Given the description of an element on the screen output the (x, y) to click on. 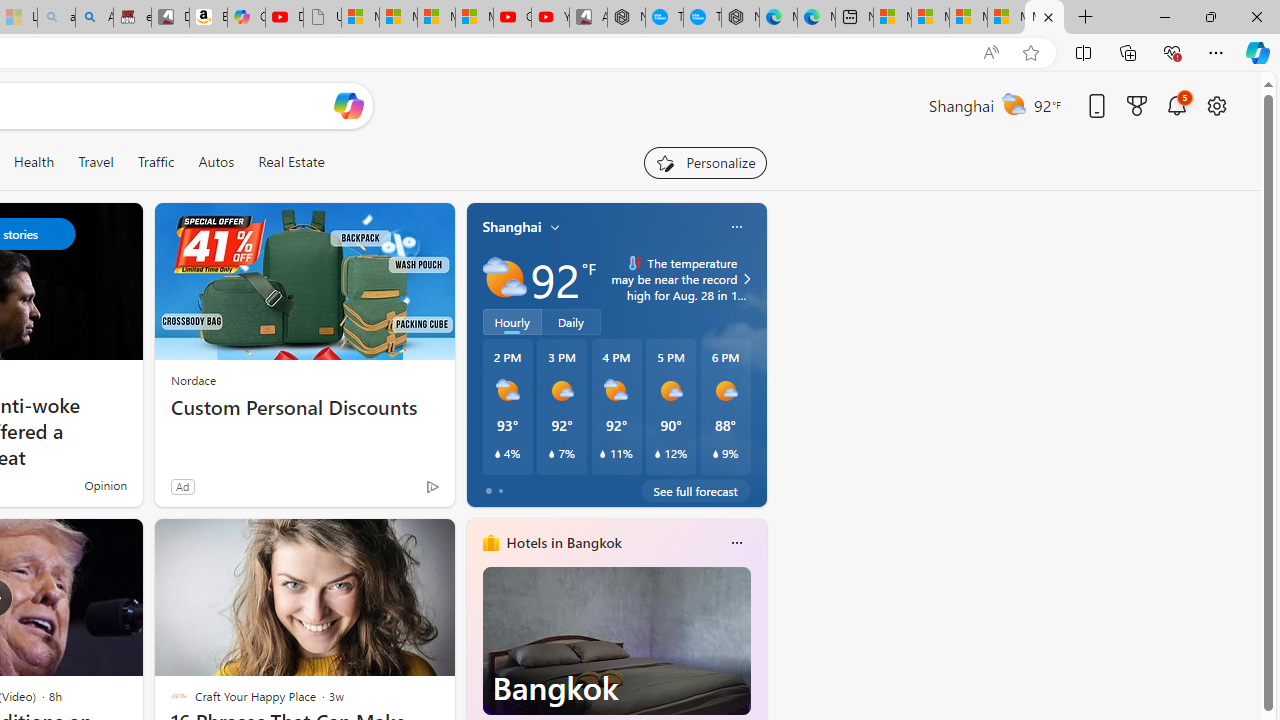
tab-0 (488, 490)
tab-1 (500, 490)
See more (429, 542)
Autos (216, 162)
Class: weather-current-precipitation-glyph (715, 453)
Class: weather-arrow-glyph (746, 278)
Daily (571, 321)
Health (34, 161)
Open settings (1216, 105)
Traffic (155, 161)
Add this page to favorites (Ctrl+D) (1030, 53)
